Given the description of an element on the screen output the (x, y) to click on. 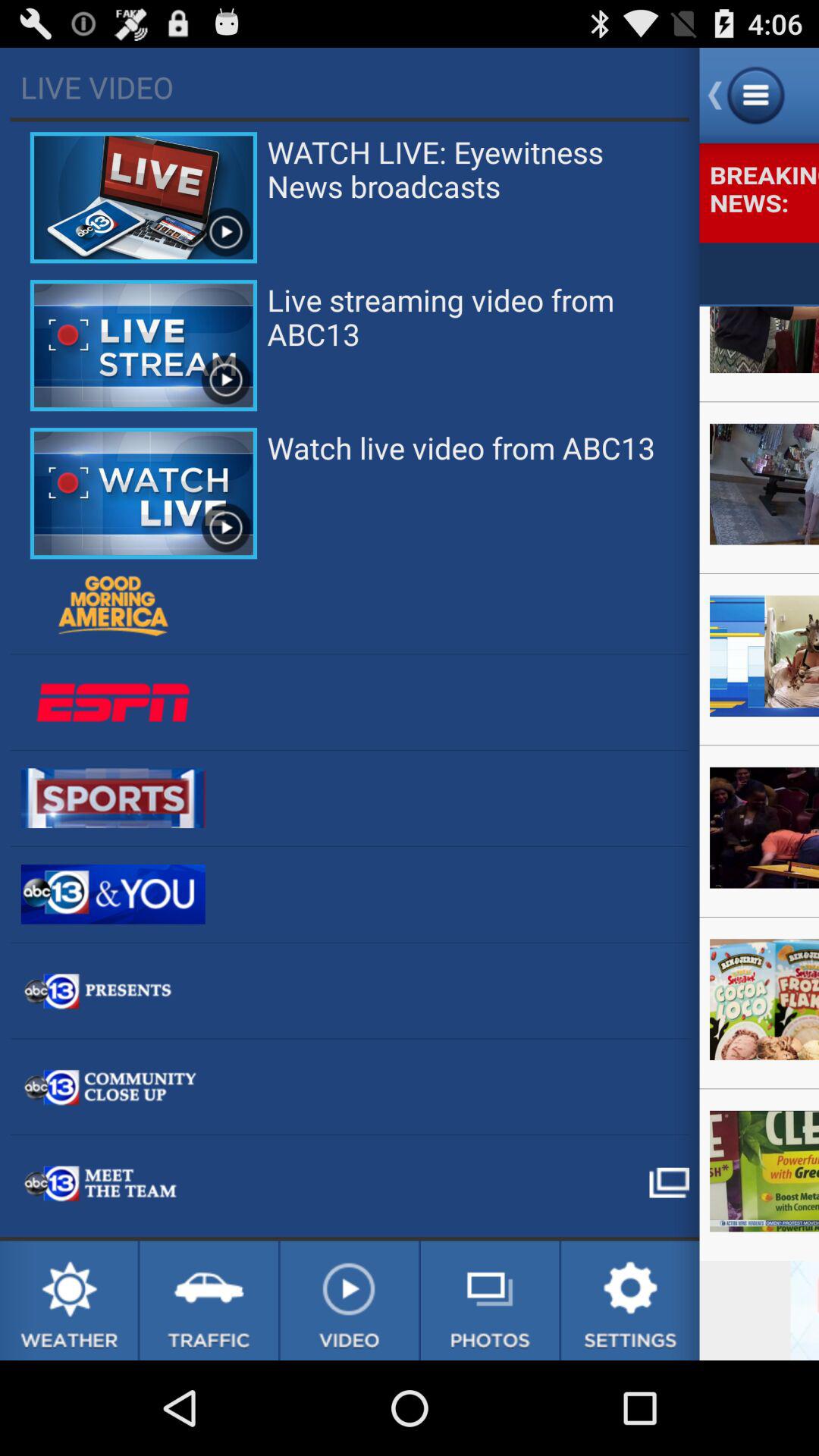
traffic (208, 1300)
